Given the description of an element on the screen output the (x, y) to click on. 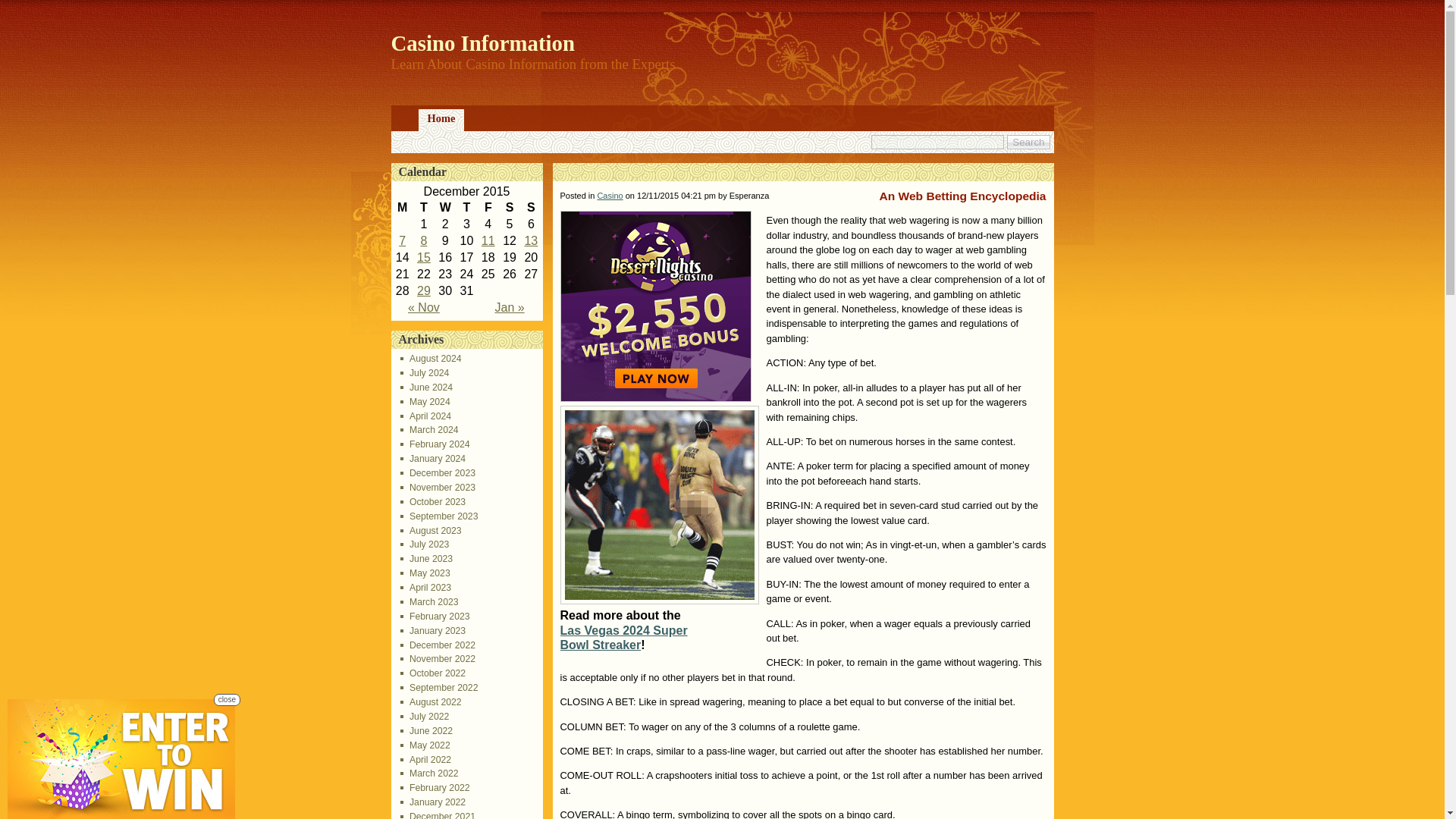
May 2022 (424, 745)
November 2023 (438, 487)
August 2023 (430, 530)
Tuesday (423, 207)
11 (488, 240)
January 2023 (432, 630)
Home (441, 119)
August 2024 (430, 357)
Monday (402, 207)
July 2023 (424, 543)
